Given the description of an element on the screen output the (x, y) to click on. 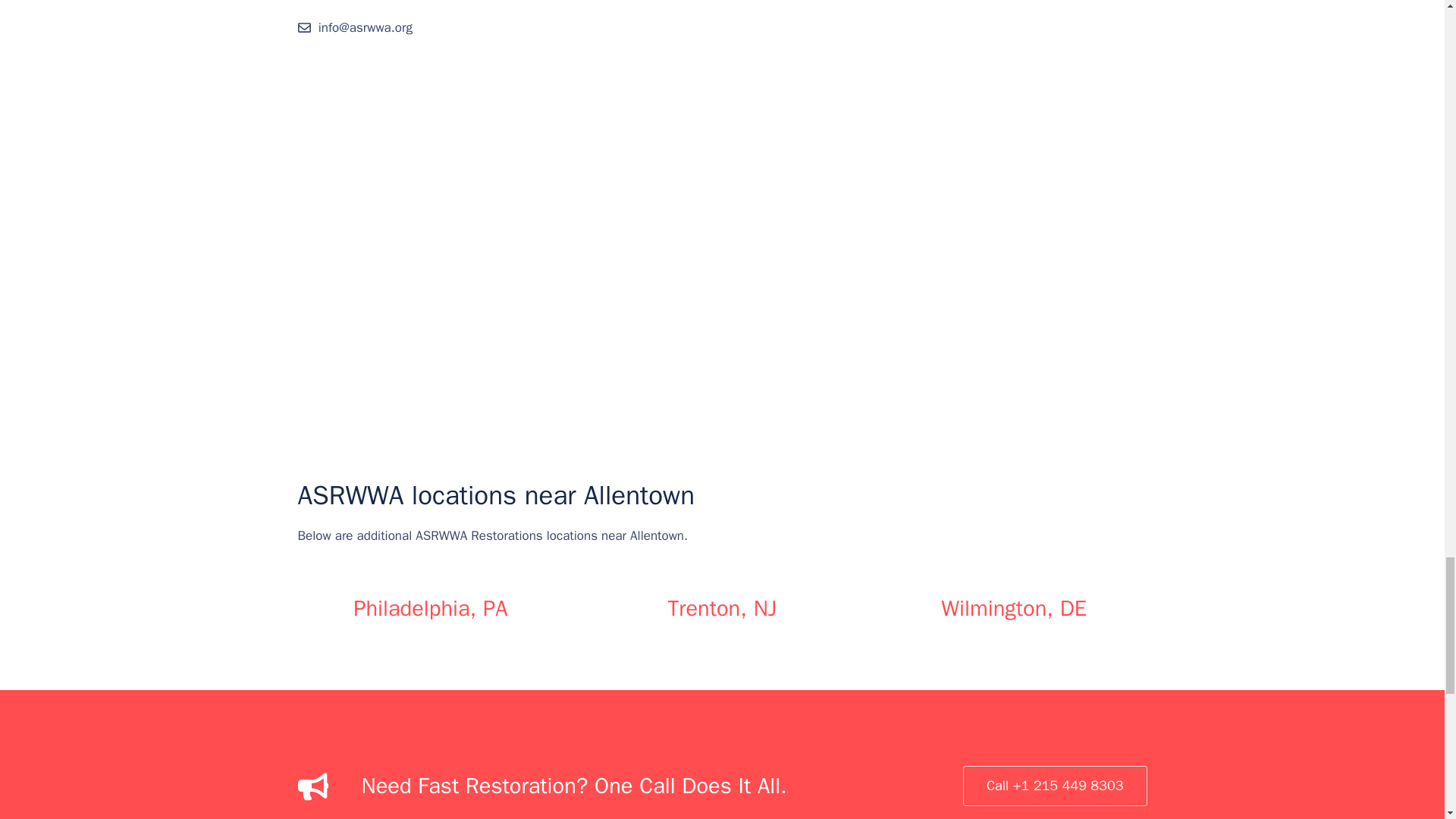
Philadelphia, PA (429, 608)
